Given the description of an element on the screen output the (x, y) to click on. 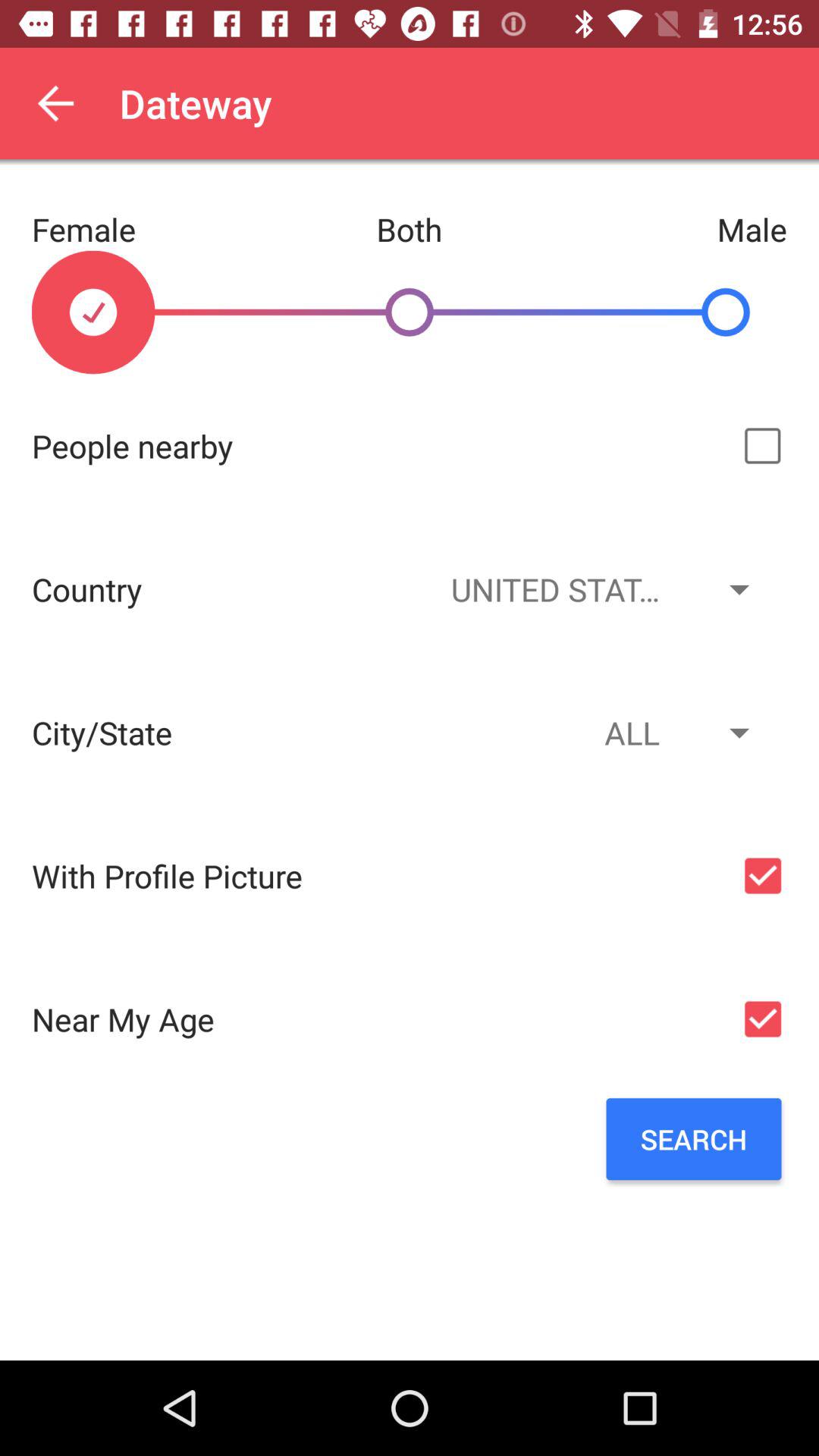
people nearby check (762, 445)
